Given the description of an element on the screen output the (x, y) to click on. 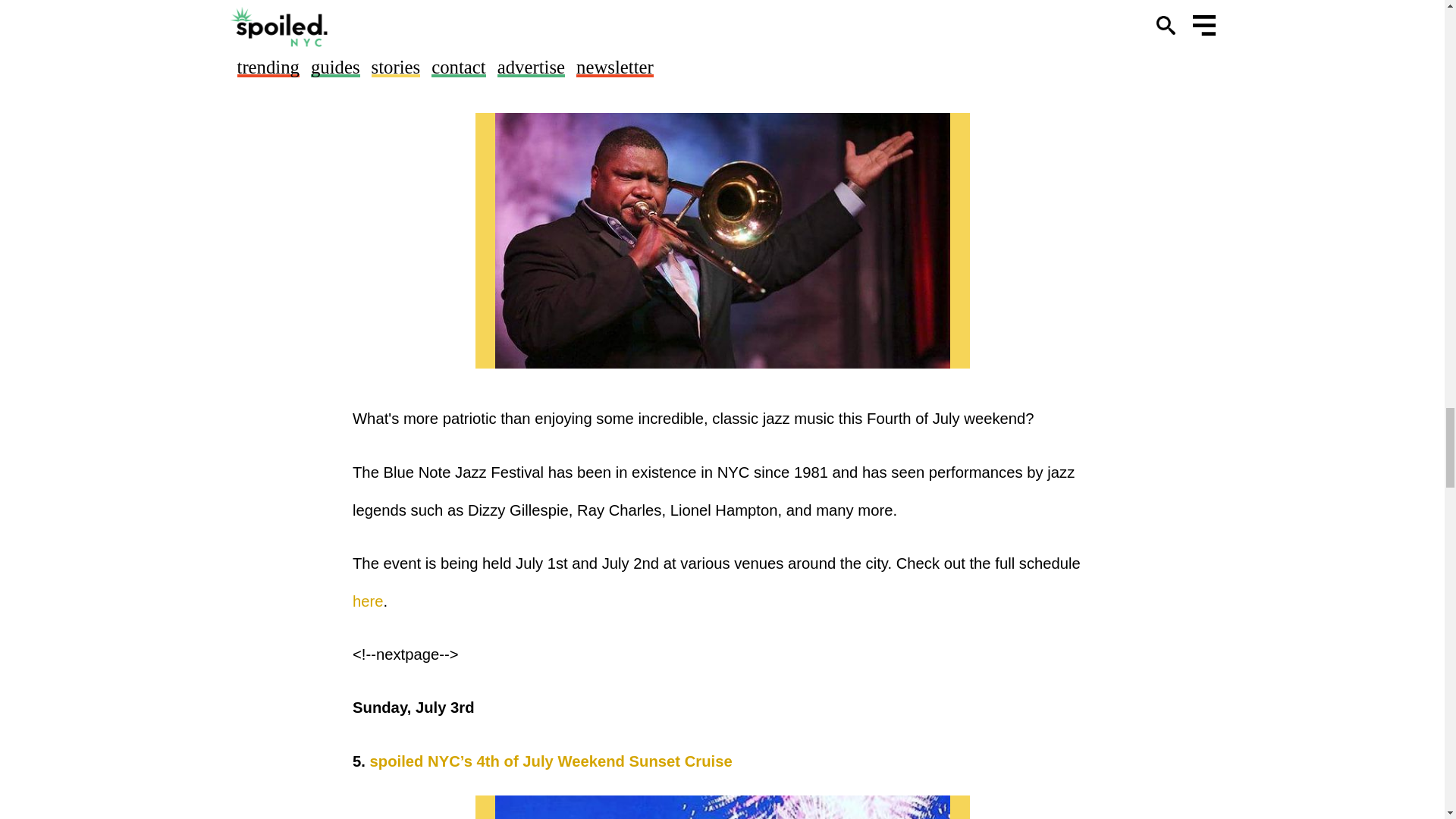
here (513, 16)
here (368, 600)
